Given the description of an element on the screen output the (x, y) to click on. 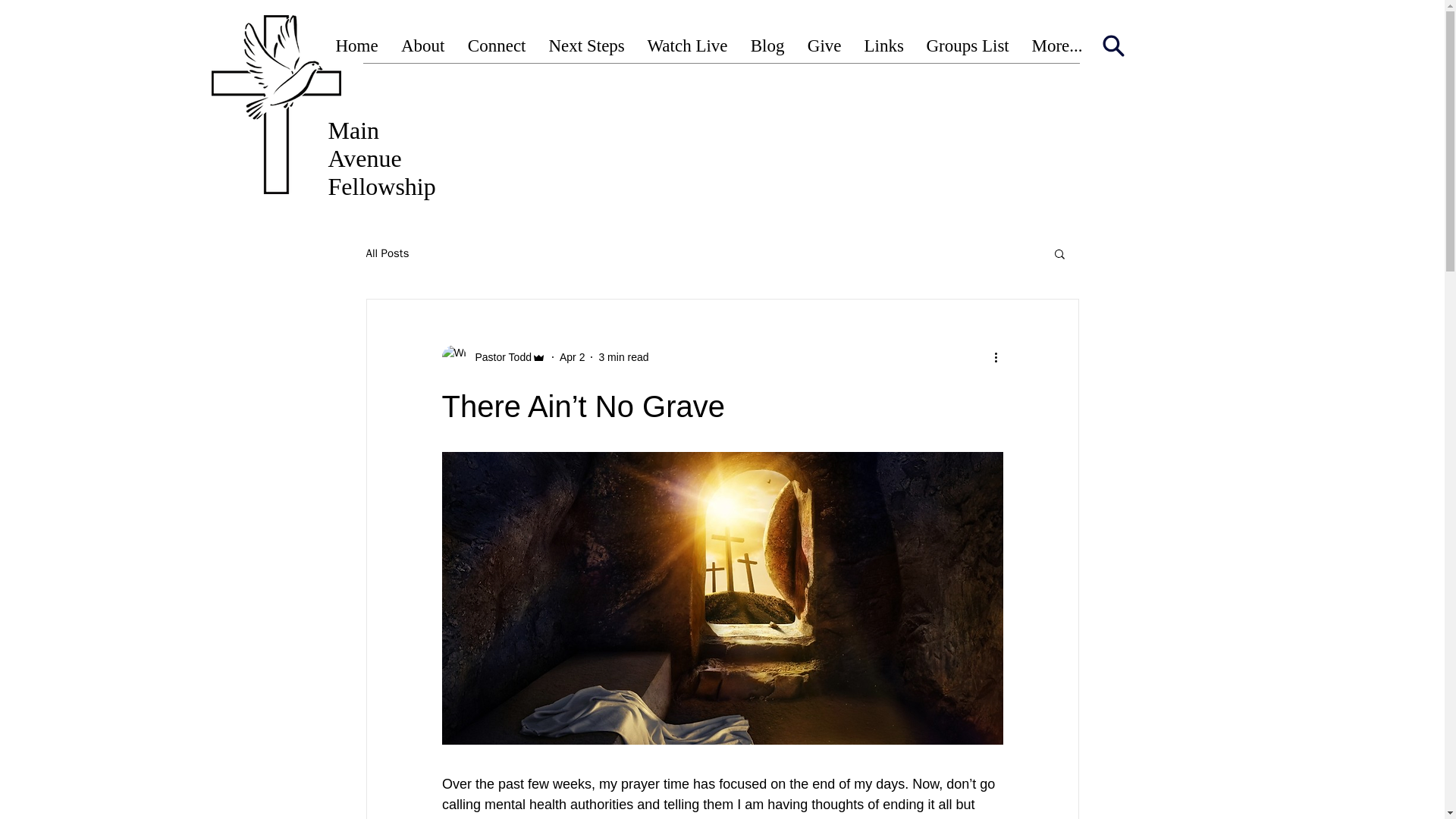
Connect (497, 45)
Watch Live (686, 45)
Next Steps (585, 45)
Avenue (364, 157)
Apr 2 (572, 356)
Fellowship (381, 185)
All Posts (387, 252)
About (423, 45)
Pastor Todd (498, 356)
3 min read (622, 356)
